Given the description of an element on the screen output the (x, y) to click on. 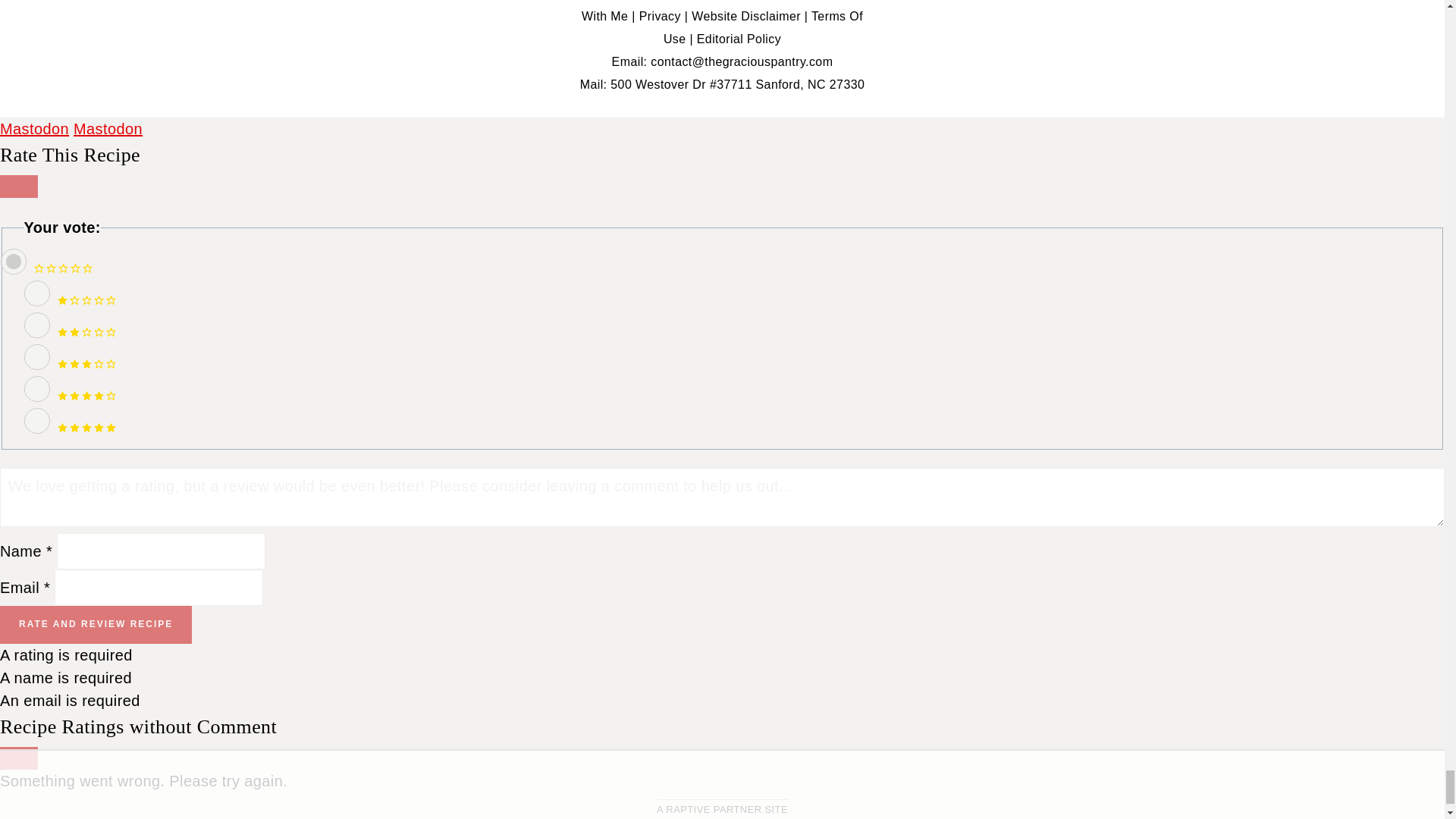
2 (36, 325)
1 (36, 293)
3 (36, 356)
0 (13, 261)
5 (36, 420)
4 (36, 388)
